Given the description of an element on the screen output the (x, y) to click on. 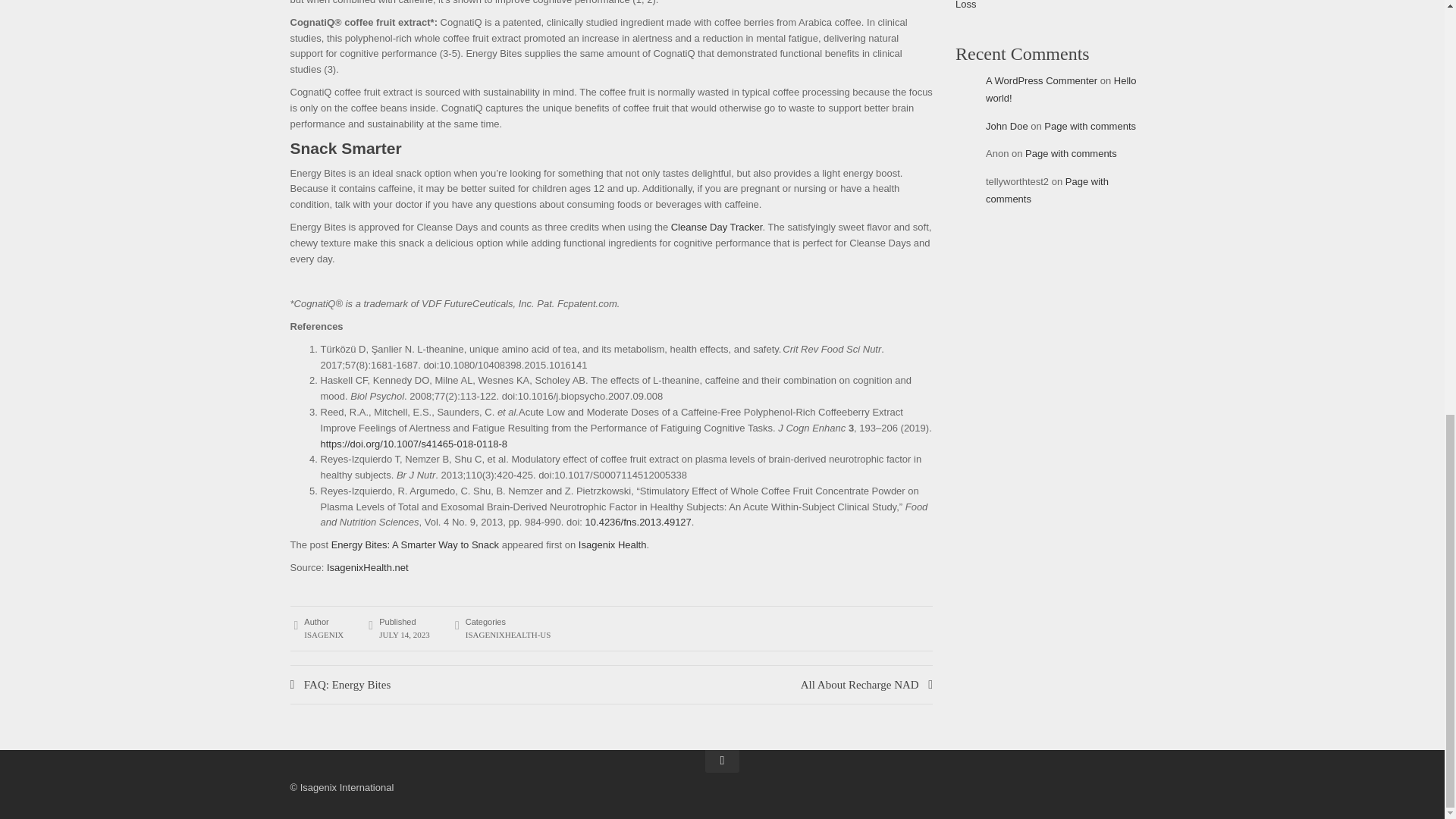
FAQ: Energy Bites (450, 684)
ISAGENIX (323, 634)
IsagenixHealth.net (367, 567)
All About Recharge NAD  (866, 684)
Isagenix Health (612, 544)
ISAGENIXHEALTH-US (508, 634)
 FAQ: Energy Bites (450, 684)
Cleanse Day Tracker (716, 226)
Posts by Isagenix (323, 634)
All About Recharge NAD (866, 684)
Go to top (721, 761)
Energy Bites: A Smarter Way to Snack (415, 544)
